Given the description of an element on the screen output the (x, y) to click on. 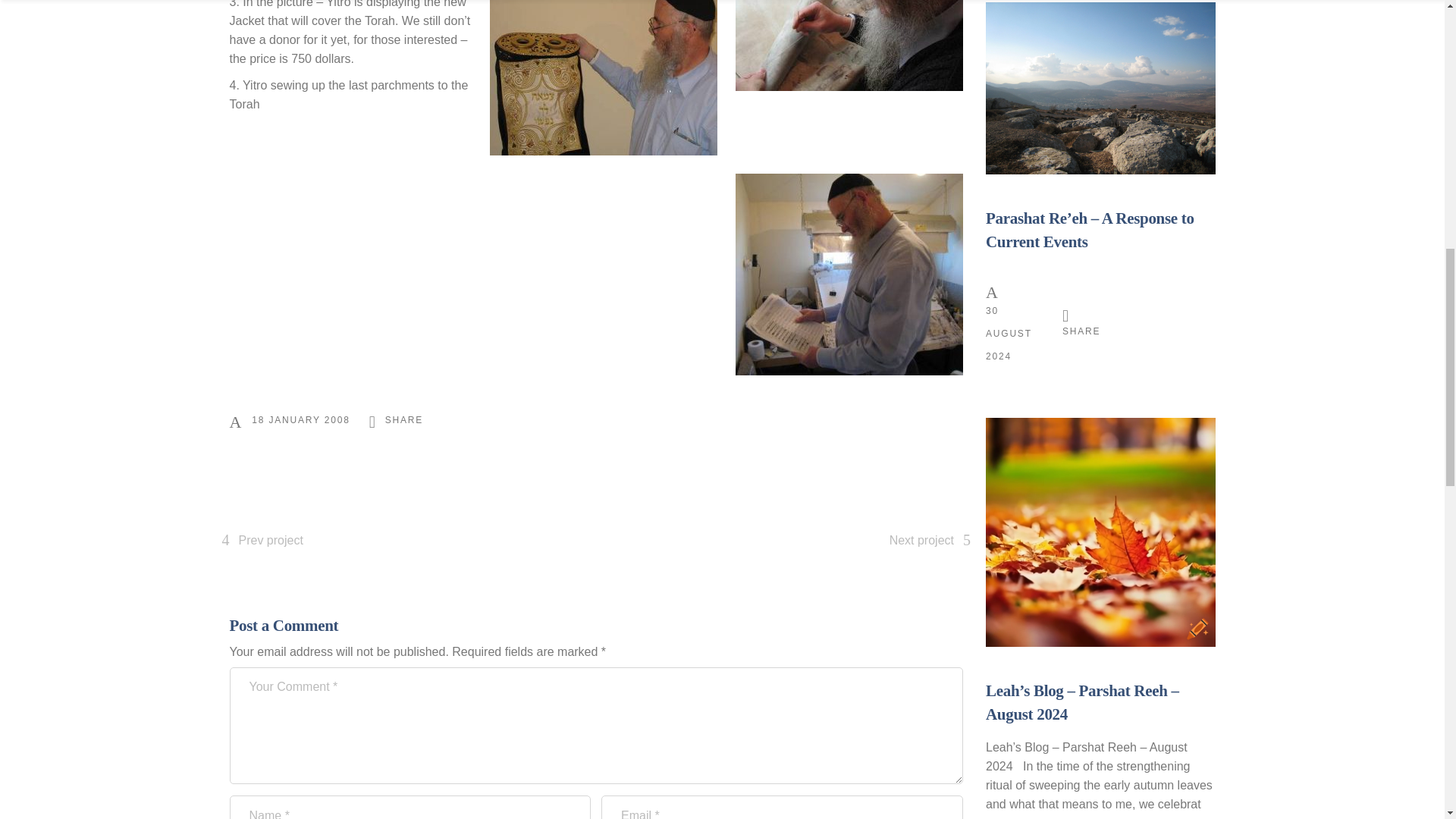
Itamar News January 18th 2008 (300, 419)
Yitro Asheri (848, 45)
Torah Covering (603, 77)
Checking torah Scroll l (848, 274)
